Given the description of an element on the screen output the (x, y) to click on. 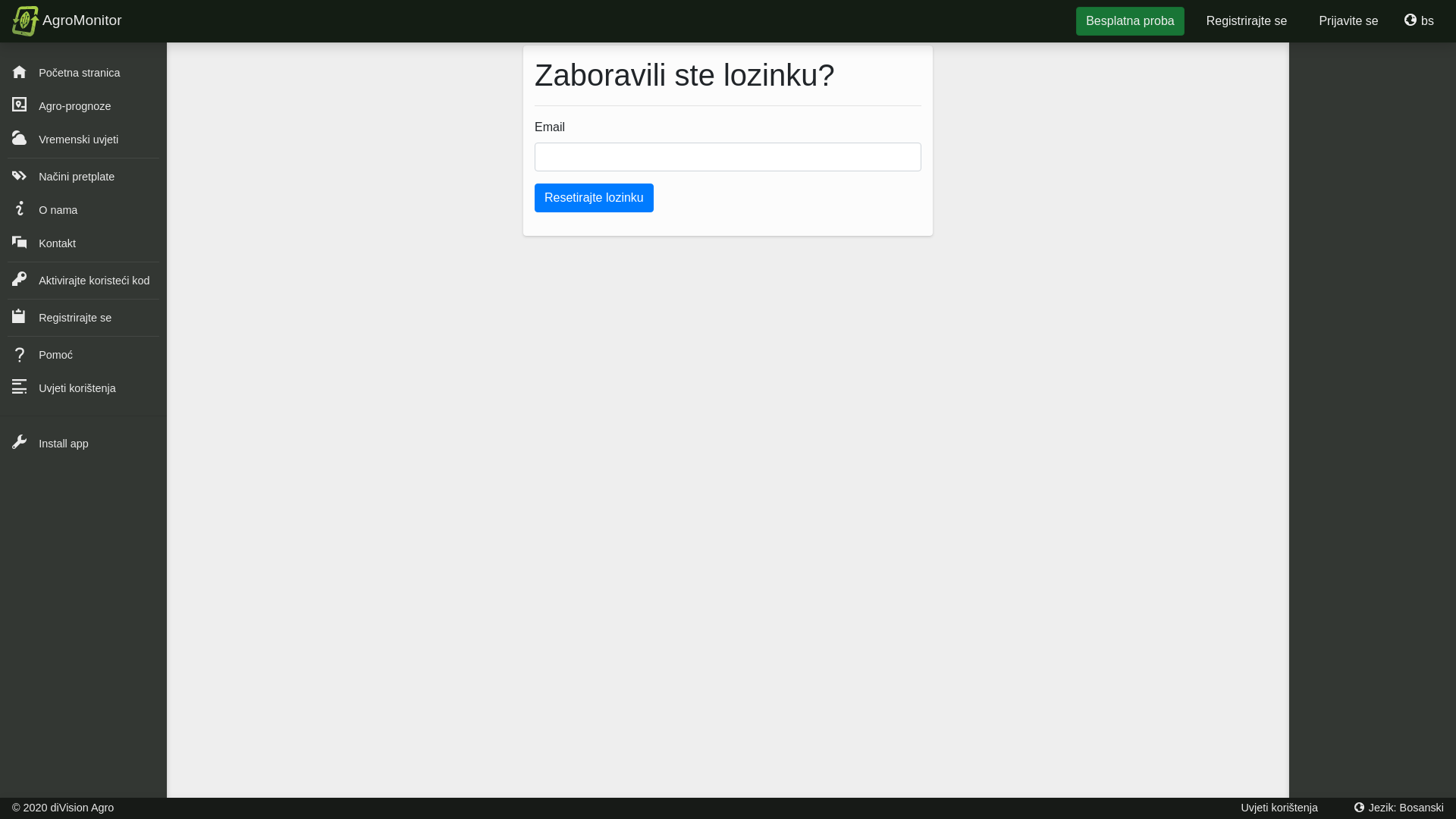
Install app Element type: text (86, 443)
Kontakt Element type: text (86, 243)
Registrirajte se Element type: text (1246, 20)
AgroMonitor Element type: text (67, 21)
Registrirajte se Element type: text (86, 317)
Jezik: Bosanski Element type: text (1398, 808)
Besplatna proba Element type: text (1130, 20)
O nama Element type: text (86, 209)
Resetirajte lozinku Element type: text (593, 197)
Vremenski uvjeti Element type: text (86, 139)
bs Element type: text (1418, 20)
Prijavite se Element type: text (1347, 20)
Agro-prognoze Element type: text (86, 106)
